Given the description of an element on the screen output the (x, y) to click on. 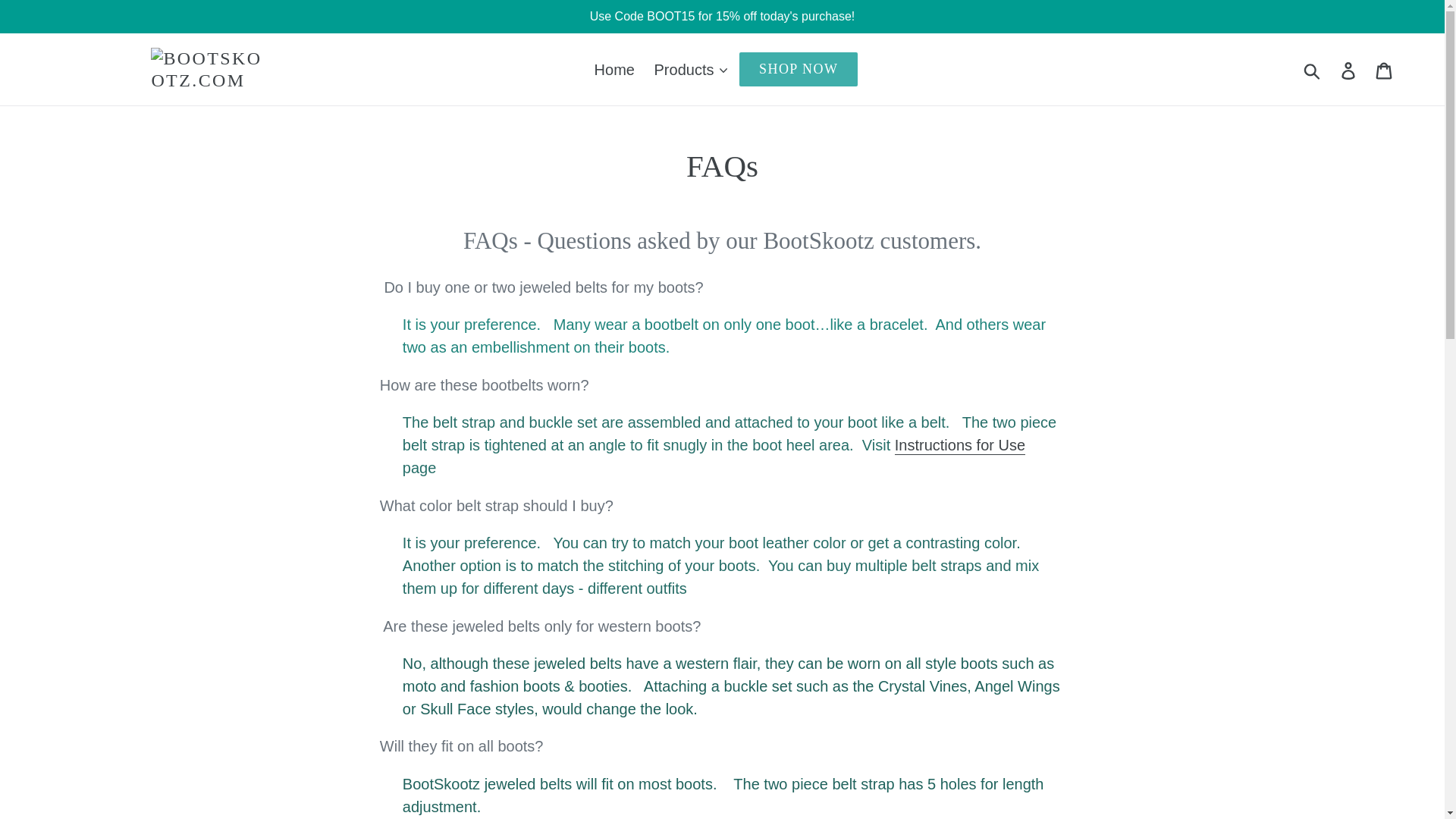
Home (614, 69)
Log in (1349, 68)
Instructions for Use (960, 445)
SHOP NOW (798, 68)
BootSkootz Instructions for Use (960, 445)
Submit (1313, 68)
Cart (1385, 68)
